Given the description of an element on the screen output the (x, y) to click on. 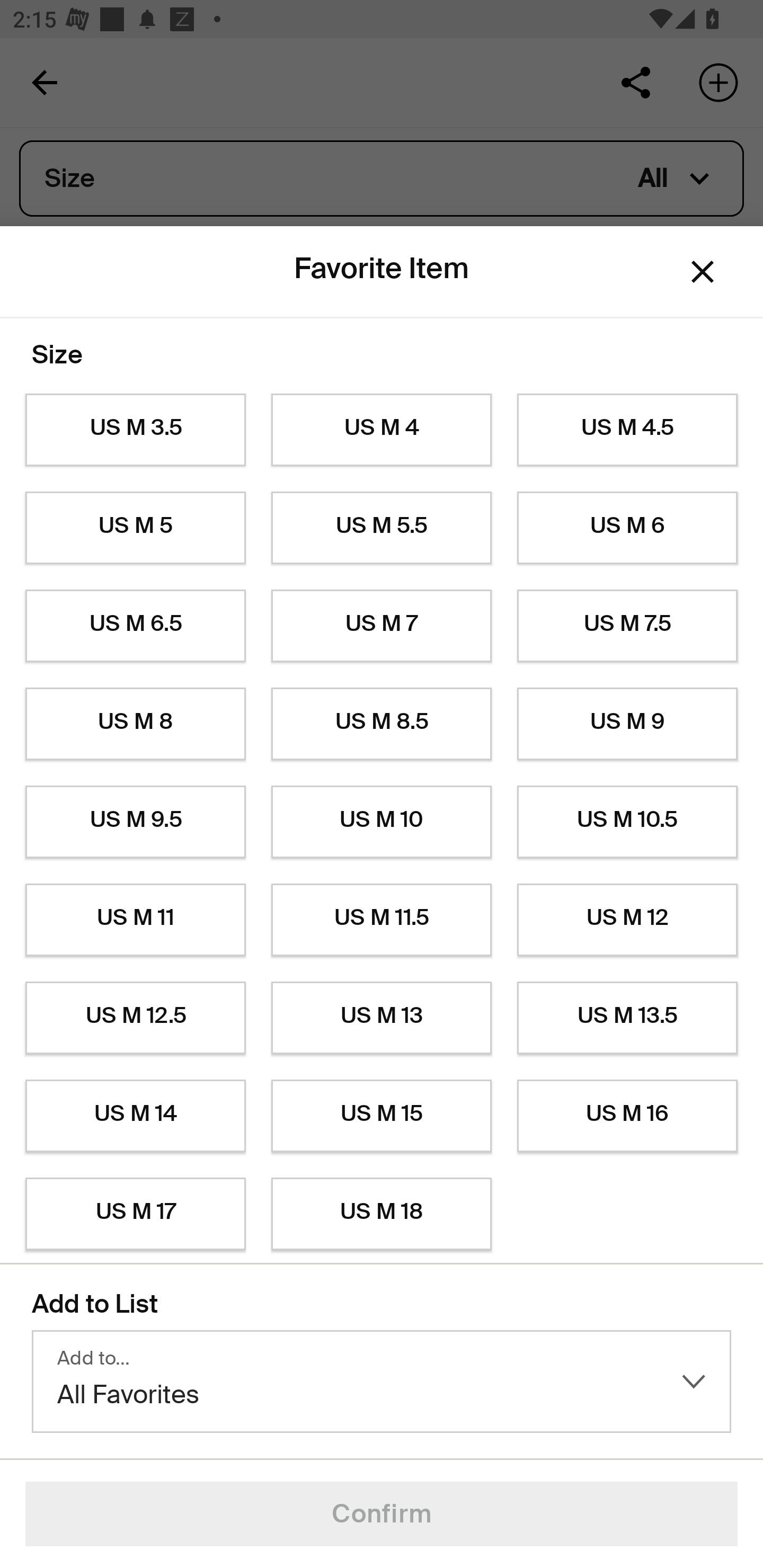
Dismiss (702, 271)
US M 3.5 (135, 430)
US M 4 (381, 430)
US M 4.5 (627, 430)
US M 5 (135, 527)
US M 5.5 (381, 527)
US M 6 (627, 527)
US M 6.5 (135, 626)
US M 7 (381, 626)
US M 7.5 (627, 626)
US M 8 (135, 724)
US M 8.5 (381, 724)
US M 9 (627, 724)
US M 9.5 (135, 822)
US M 10 (381, 822)
US M 10.5 (627, 822)
US M 11 (135, 919)
US M 11.5 (381, 919)
US M 12 (627, 919)
US M 12.5 (135, 1018)
US M 13 (381, 1018)
US M 13.5 (627, 1018)
US M 14 (135, 1116)
US M 15 (381, 1116)
US M 16 (627, 1116)
US M 17 (135, 1214)
US M 18 (381, 1214)
Add to… All Favorites (381, 1381)
Confirm (381, 1513)
